Given the description of an element on the screen output the (x, y) to click on. 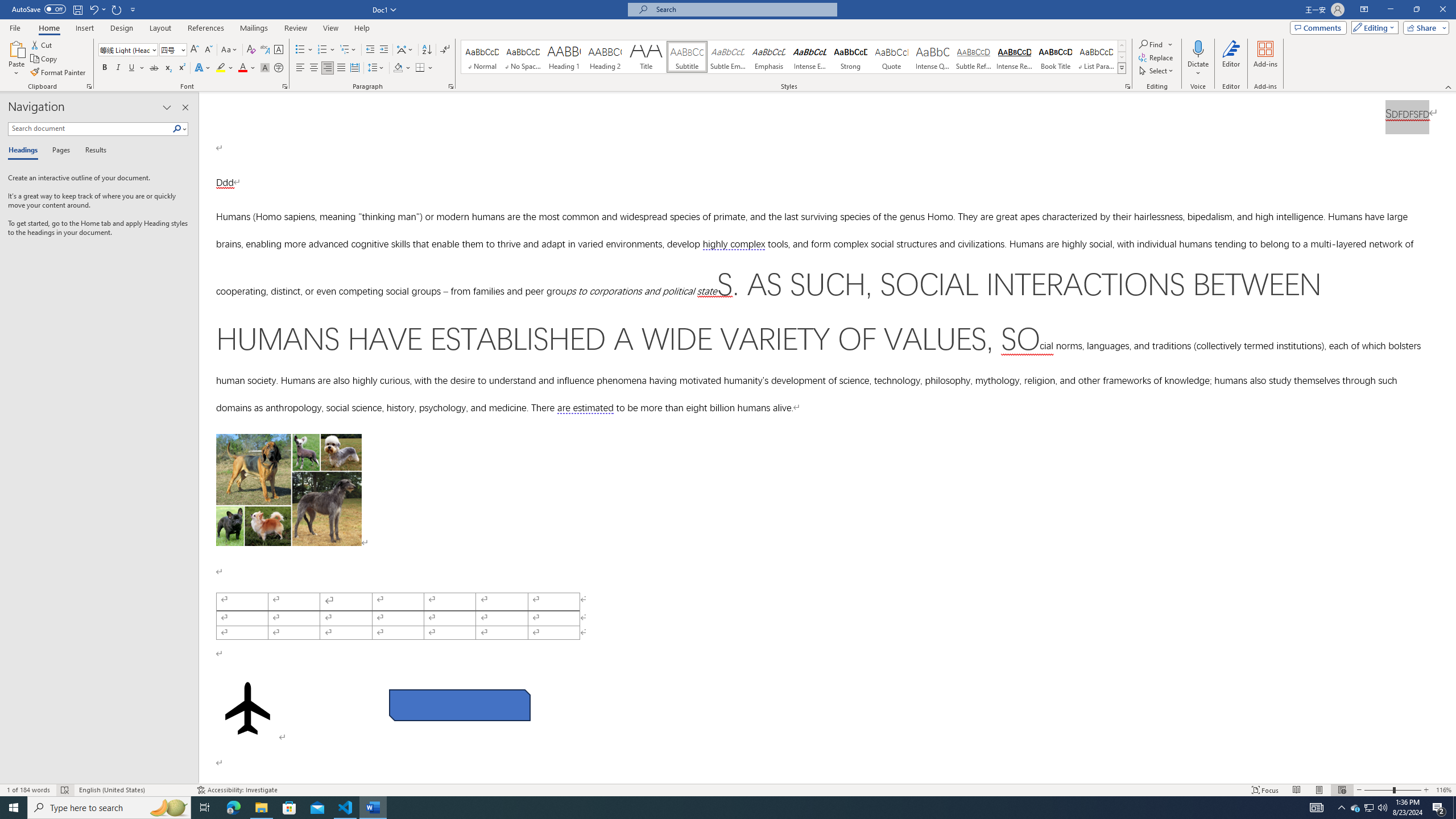
Styles (1121, 67)
Intense Quote (932, 56)
Undo Paragraph Alignment (96, 9)
Shading RGB(0, 0, 0) (397, 67)
Zoom 116% (1443, 790)
Cut (42, 44)
Class: MsoCommandBar (728, 789)
Title (646, 56)
